Given the description of an element on the screen output the (x, y) to click on. 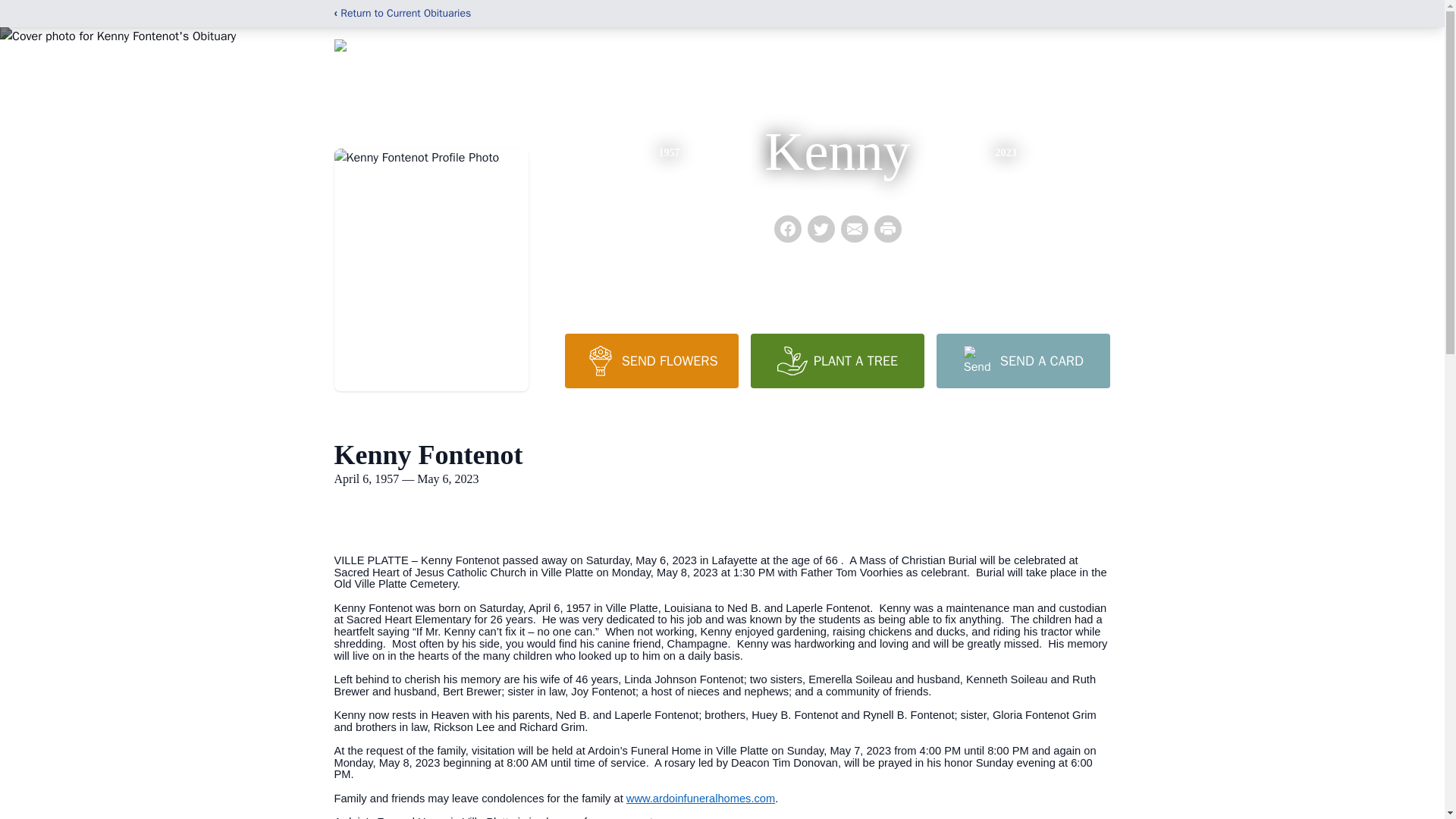
www.ardoinfuneralhomes.com (700, 798)
SEND A CARD (1022, 360)
PLANT A TREE (837, 360)
SEND FLOWERS (651, 360)
